Given the description of an element on the screen output the (x, y) to click on. 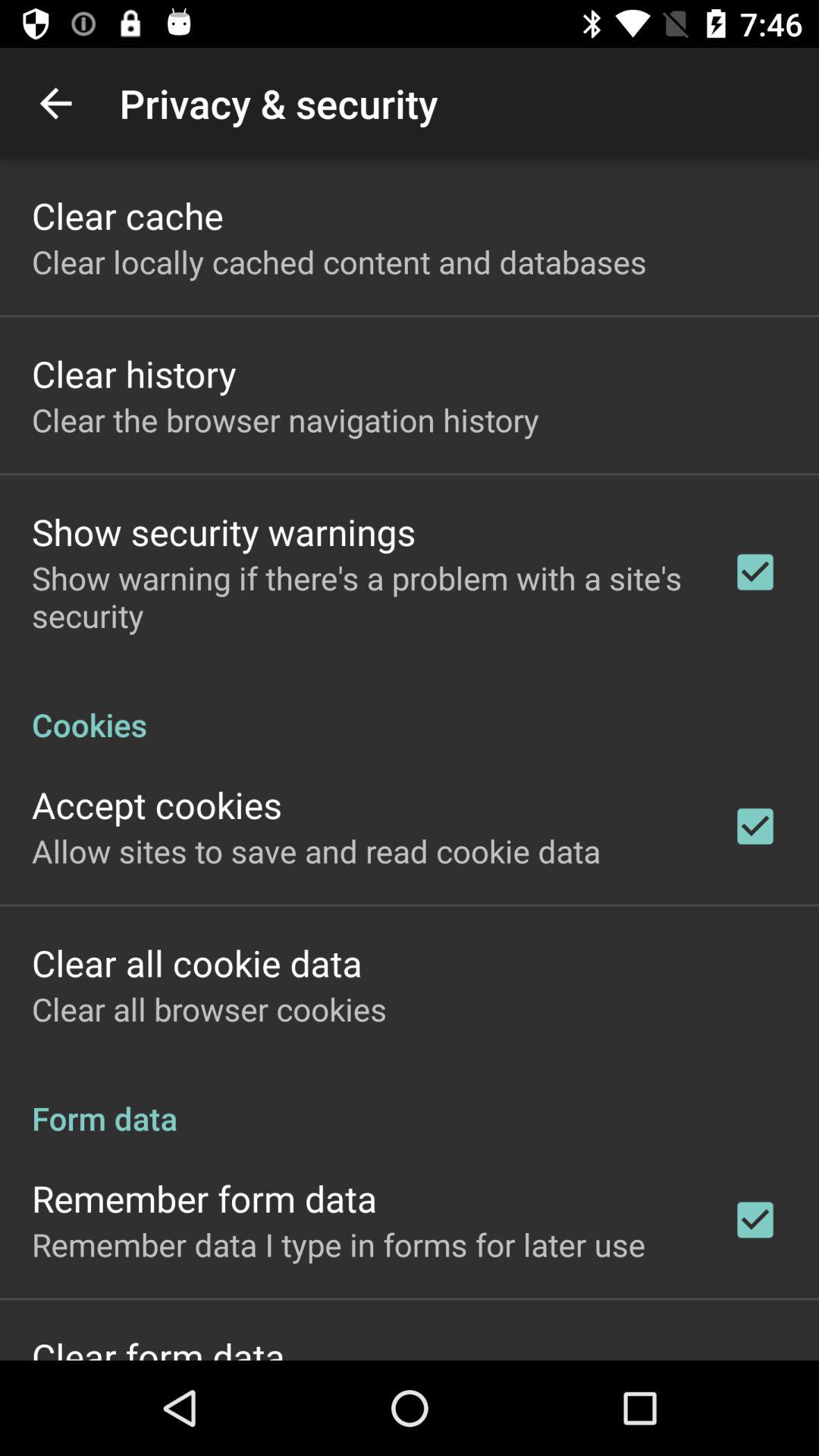
tap the clear cache app (127, 215)
